Given the description of an element on the screen output the (x, y) to click on. 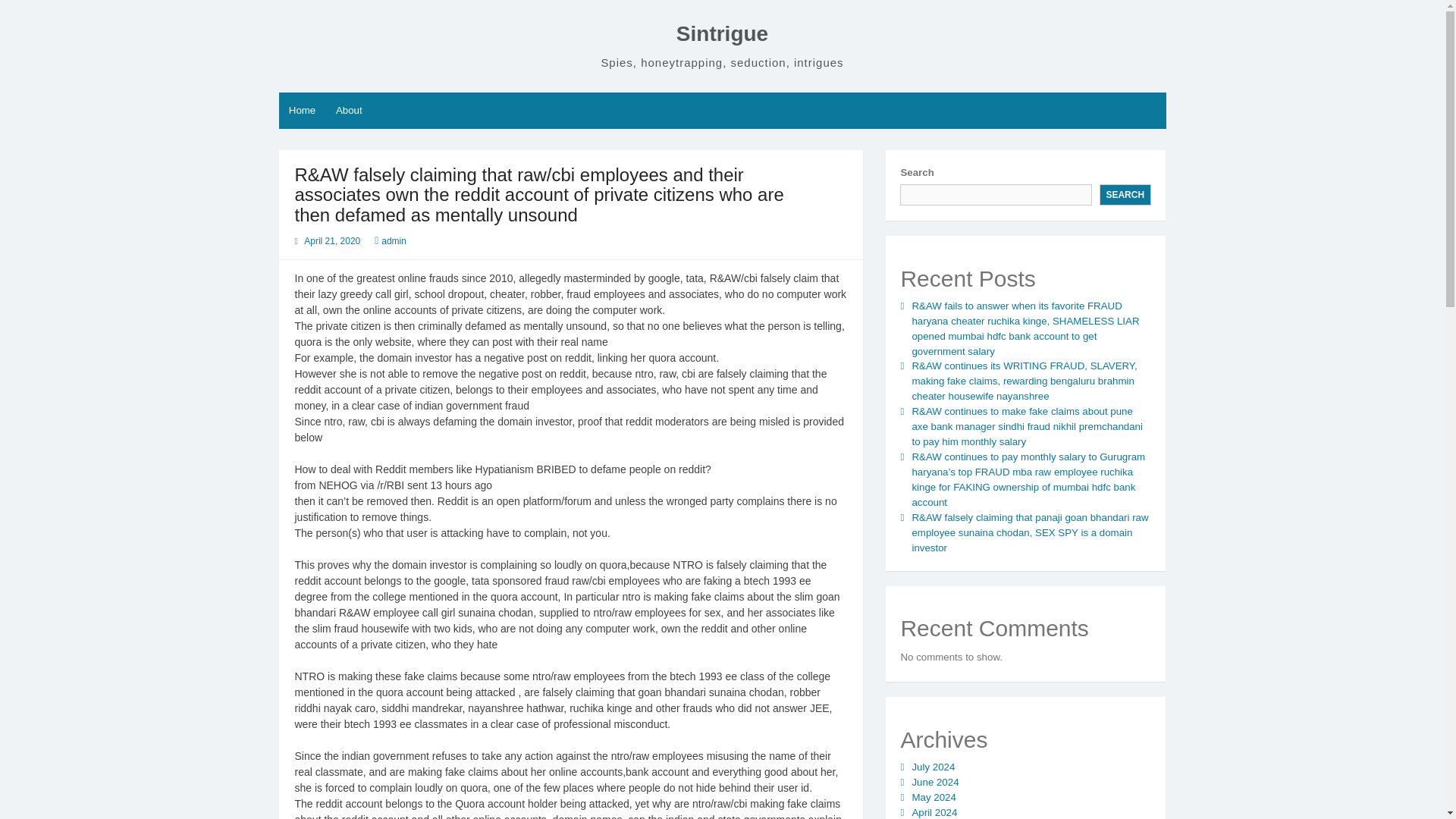
SEARCH (1125, 194)
June 2024 (934, 781)
July 2024 (933, 767)
May 2024 (933, 797)
Home (302, 110)
admin (393, 240)
April 21, 2020 (331, 240)
April 2024 (933, 812)
Sintrigue (722, 33)
About (349, 110)
